Given the description of an element on the screen output the (x, y) to click on. 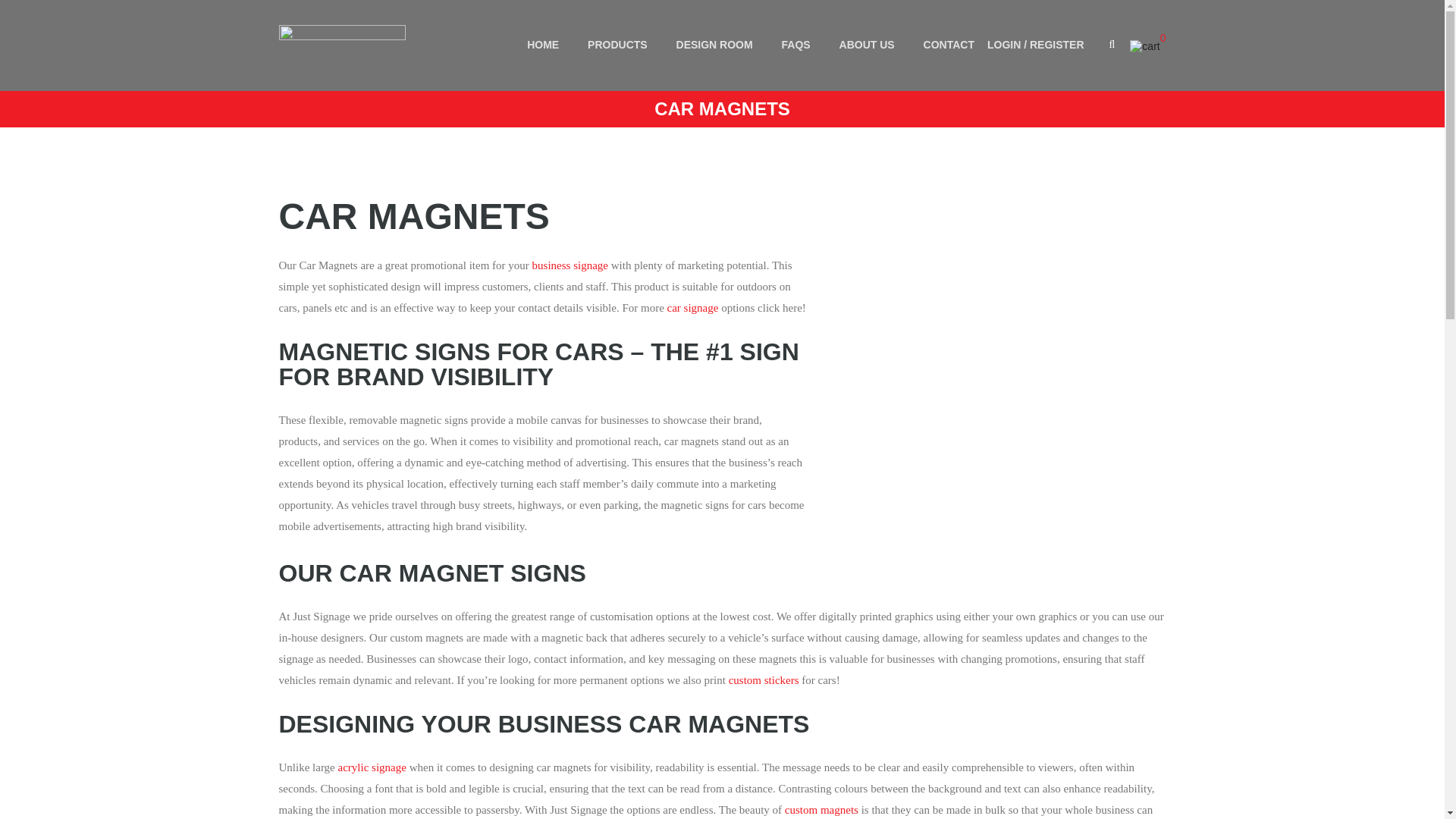
member login (1035, 56)
View your shopping cart (1147, 47)
